Given the description of an element on the screen output the (x, y) to click on. 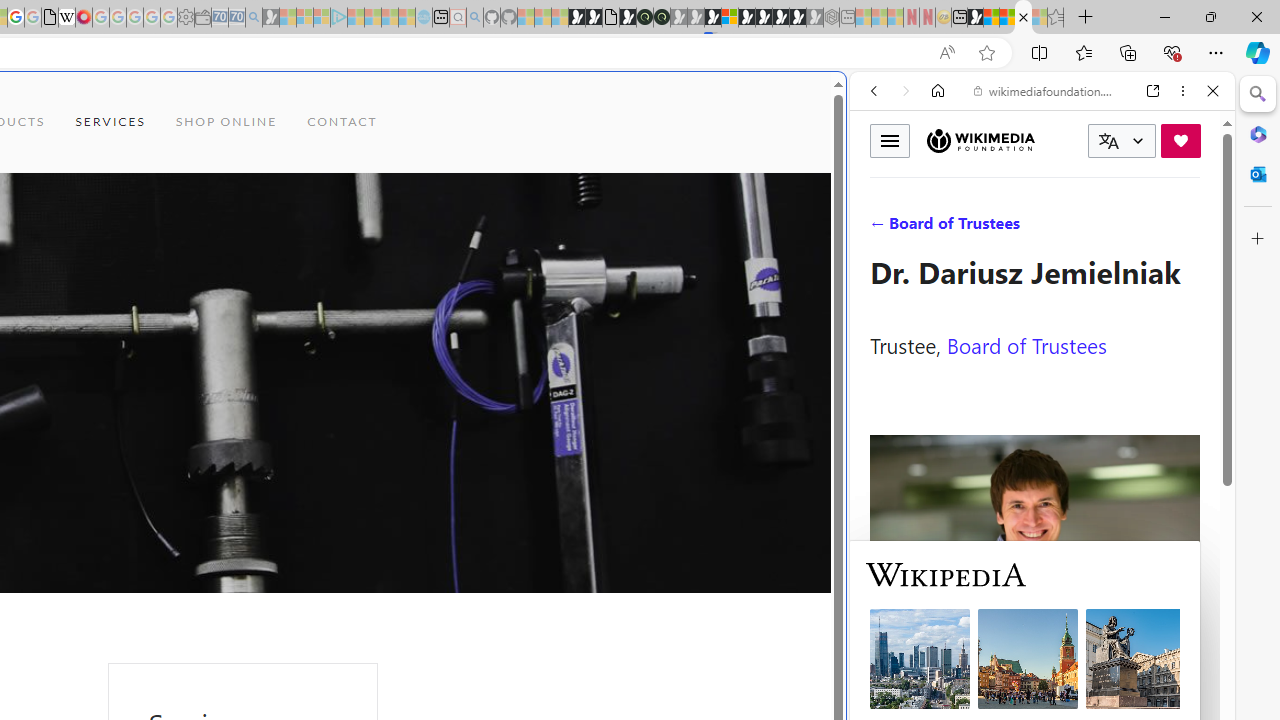
SERVICES (110, 122)
Board of Trustees (1026, 344)
Home | Sky Blue Bikes - Sky Blue Bikes (687, 426)
